Given the description of an element on the screen output the (x, y) to click on. 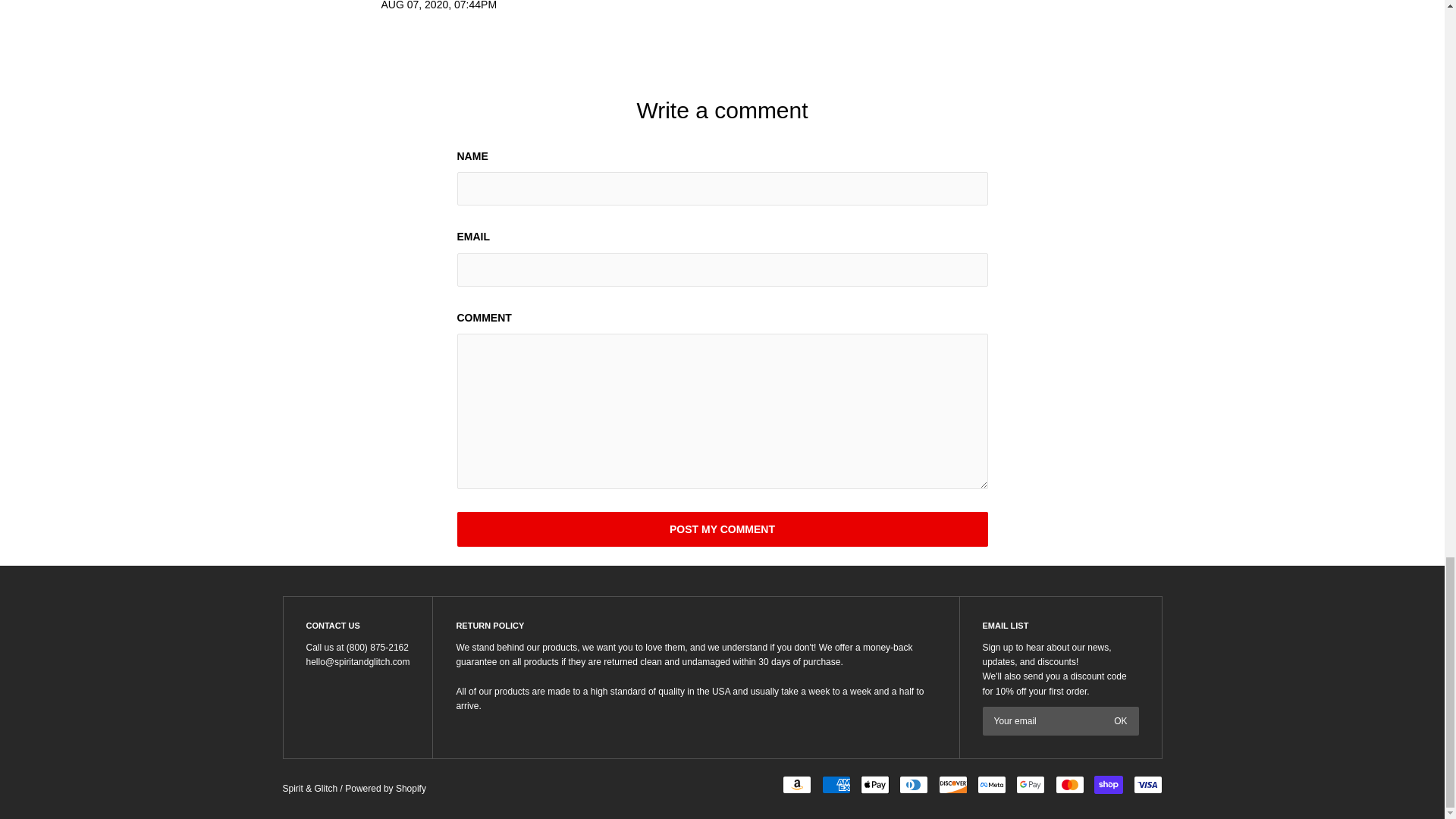
Meta Pay (991, 784)
Apple Pay (874, 784)
Amazon (796, 784)
Discover (953, 784)
American Express (836, 784)
Mastercard (1069, 784)
Diners Club (913, 784)
Shop Pay (1108, 784)
Google Pay (1030, 784)
Post my comment (722, 529)
